Given the description of an element on the screen output the (x, y) to click on. 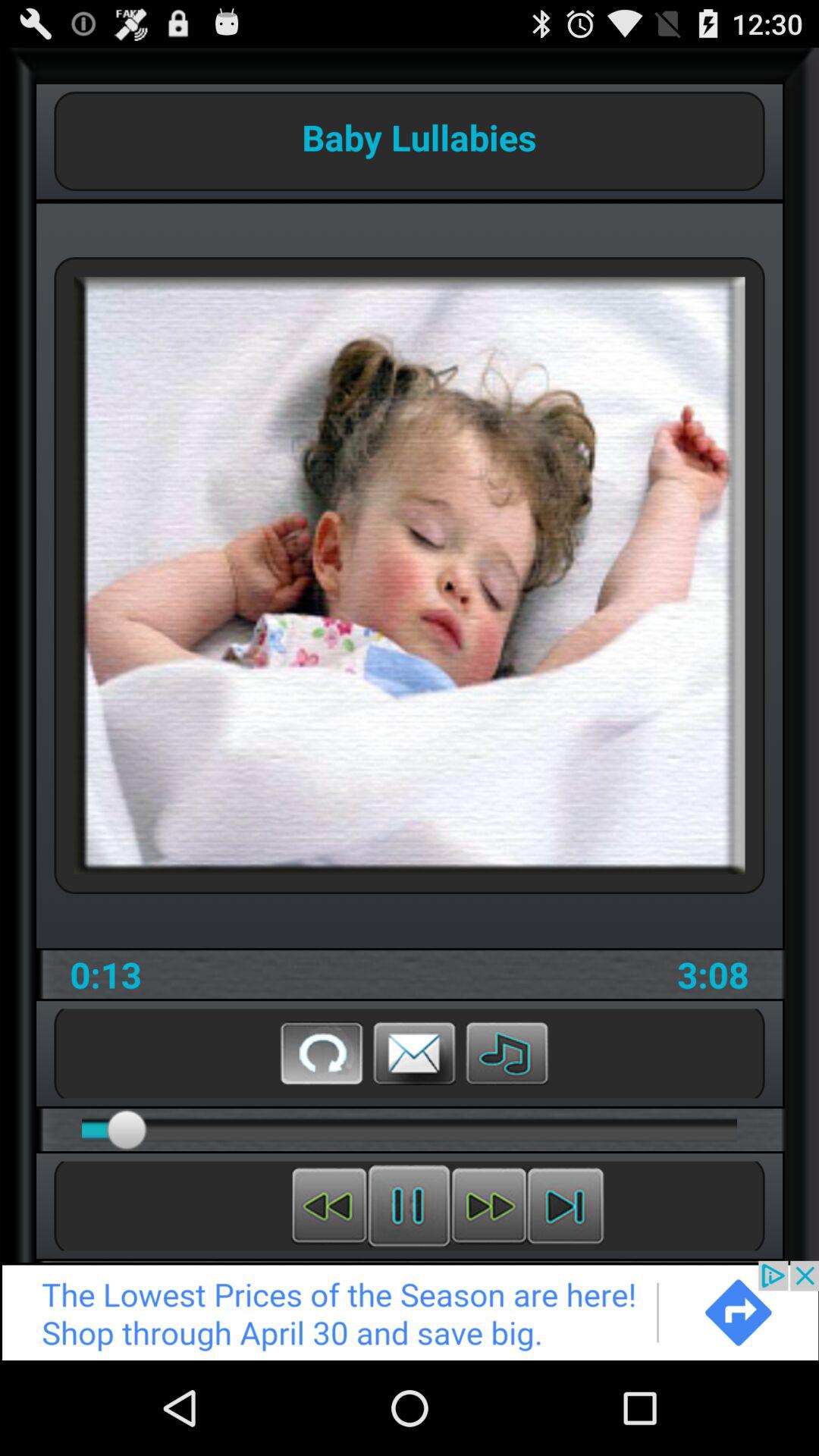
skip to next track (565, 1205)
